Given the description of an element on the screen output the (x, y) to click on. 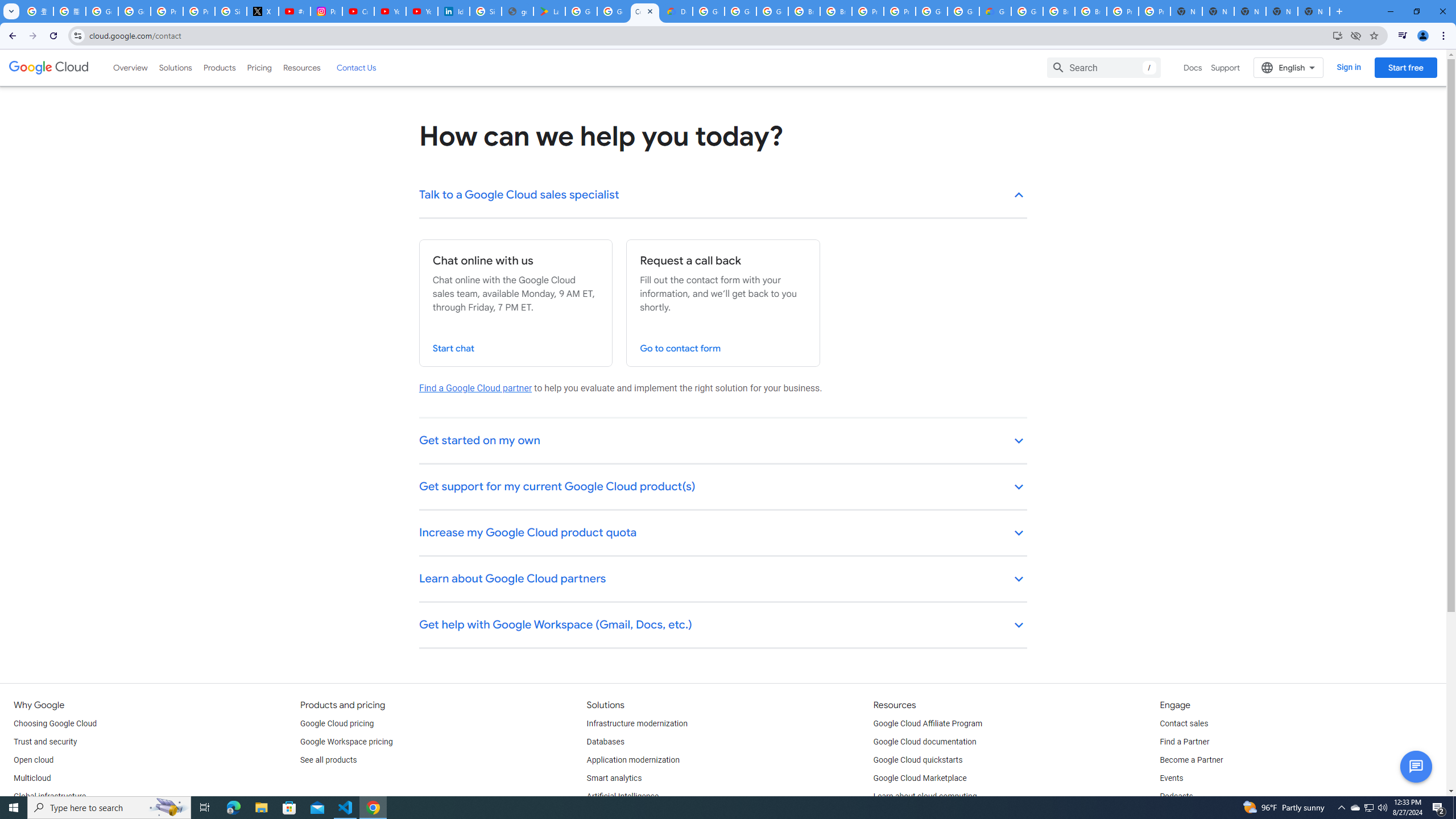
Google Workspace pricing (346, 742)
Infrastructure modernization (637, 723)
Trust and security (45, 742)
Browse Chrome as a guest - Computer - Google Chrome Help (804, 11)
Google Cloud Platform (708, 11)
#nbabasketballhighlights - YouTube (294, 11)
Smart analytics (614, 778)
New Tab (1313, 11)
